Given the description of an element on the screen output the (x, y) to click on. 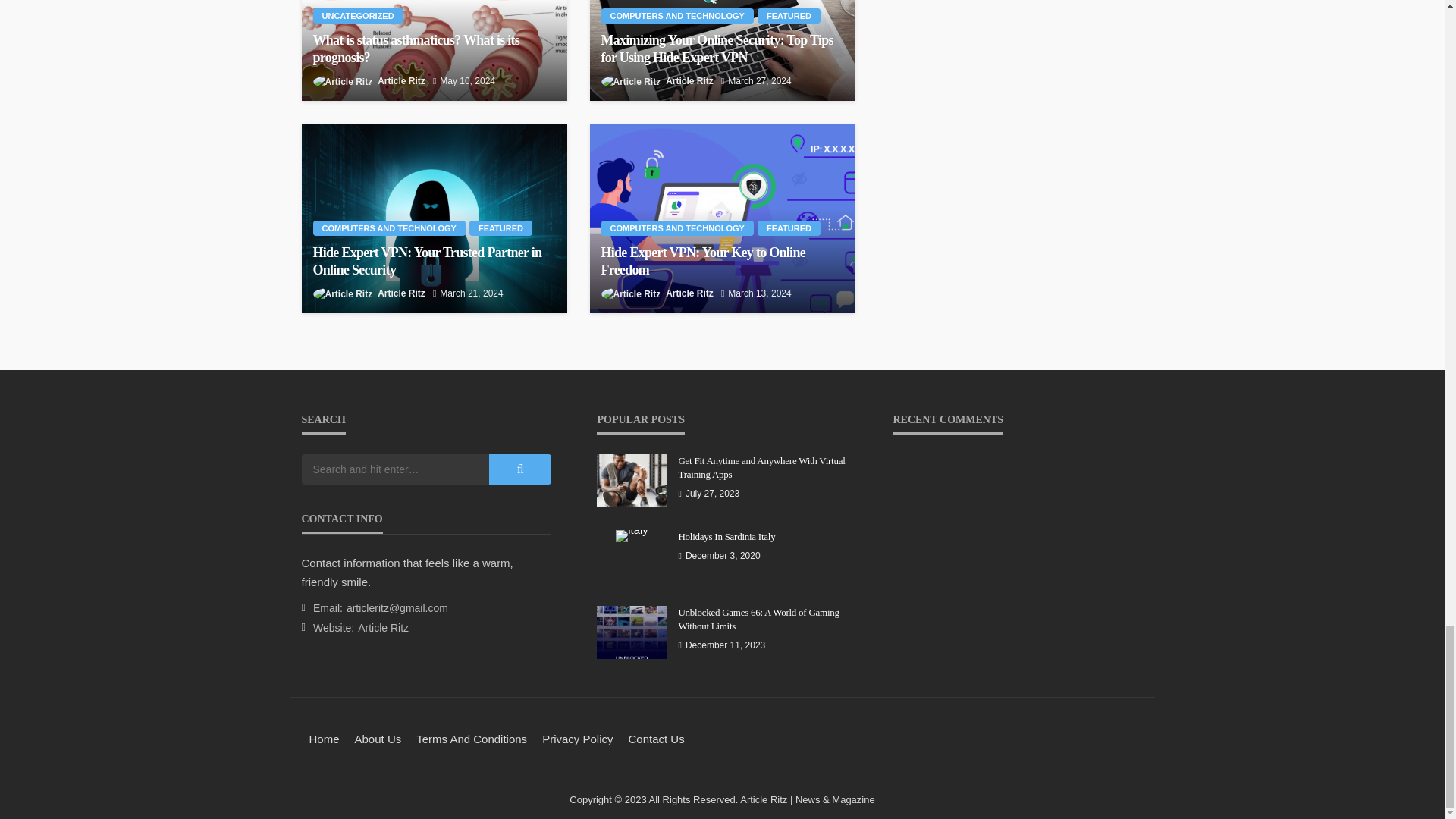
What is status asthmaticus? What is its prognosis? (434, 50)
